Given the description of an element on the screen output the (x, y) to click on. 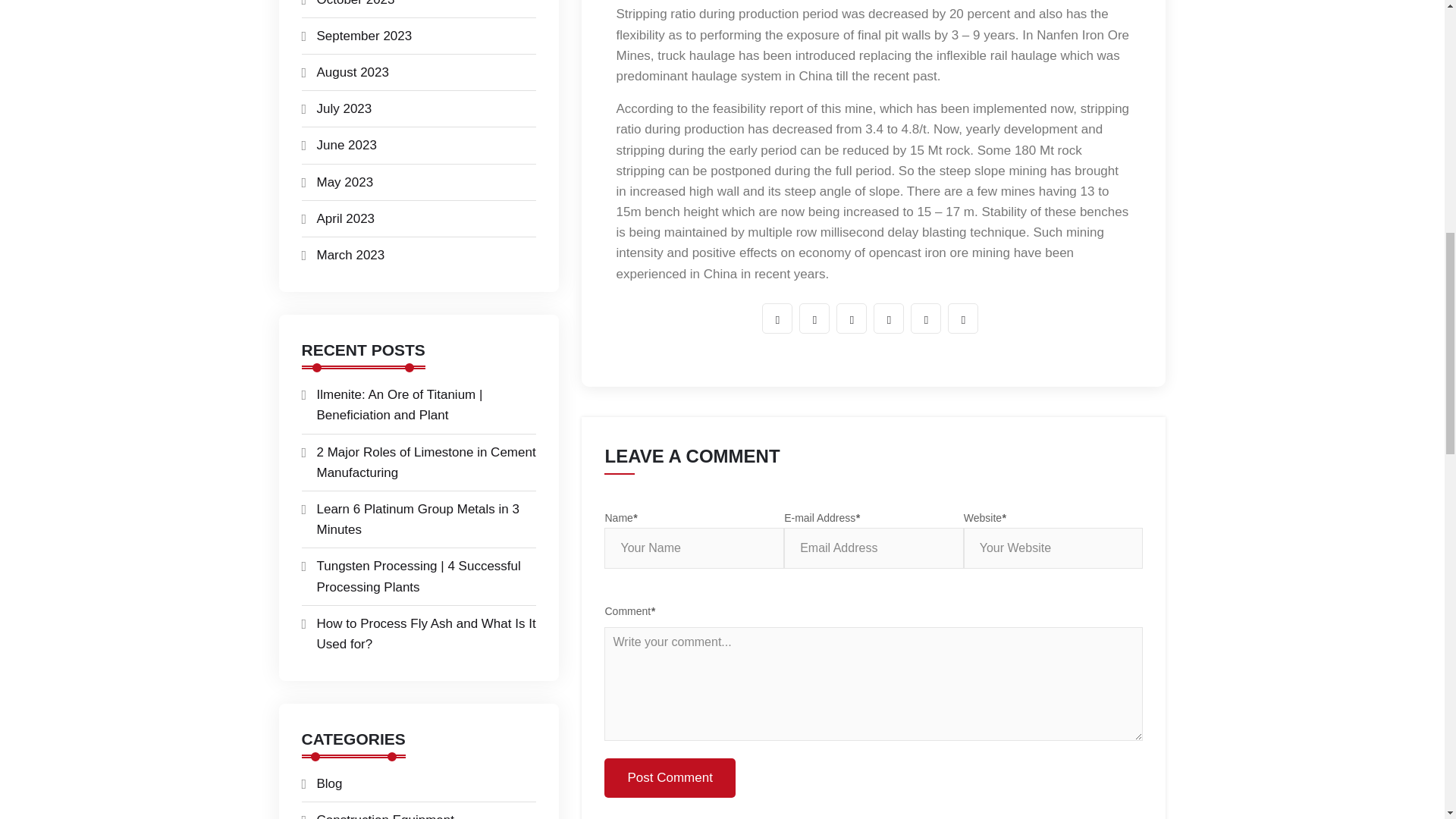
June 2023 (347, 145)
September 2023 (364, 35)
April 2023 (346, 218)
May 2023 (345, 182)
2 Major Roles of Limestone in Cement Manufacturing (426, 462)
Learn 6 Platinum Group Metals in 3 Minutes (418, 519)
March 2023 (351, 255)
Blog (329, 783)
How to Process Fly Ash and What Is It Used for? (426, 633)
October 2023 (355, 3)
